Given the description of an element on the screen output the (x, y) to click on. 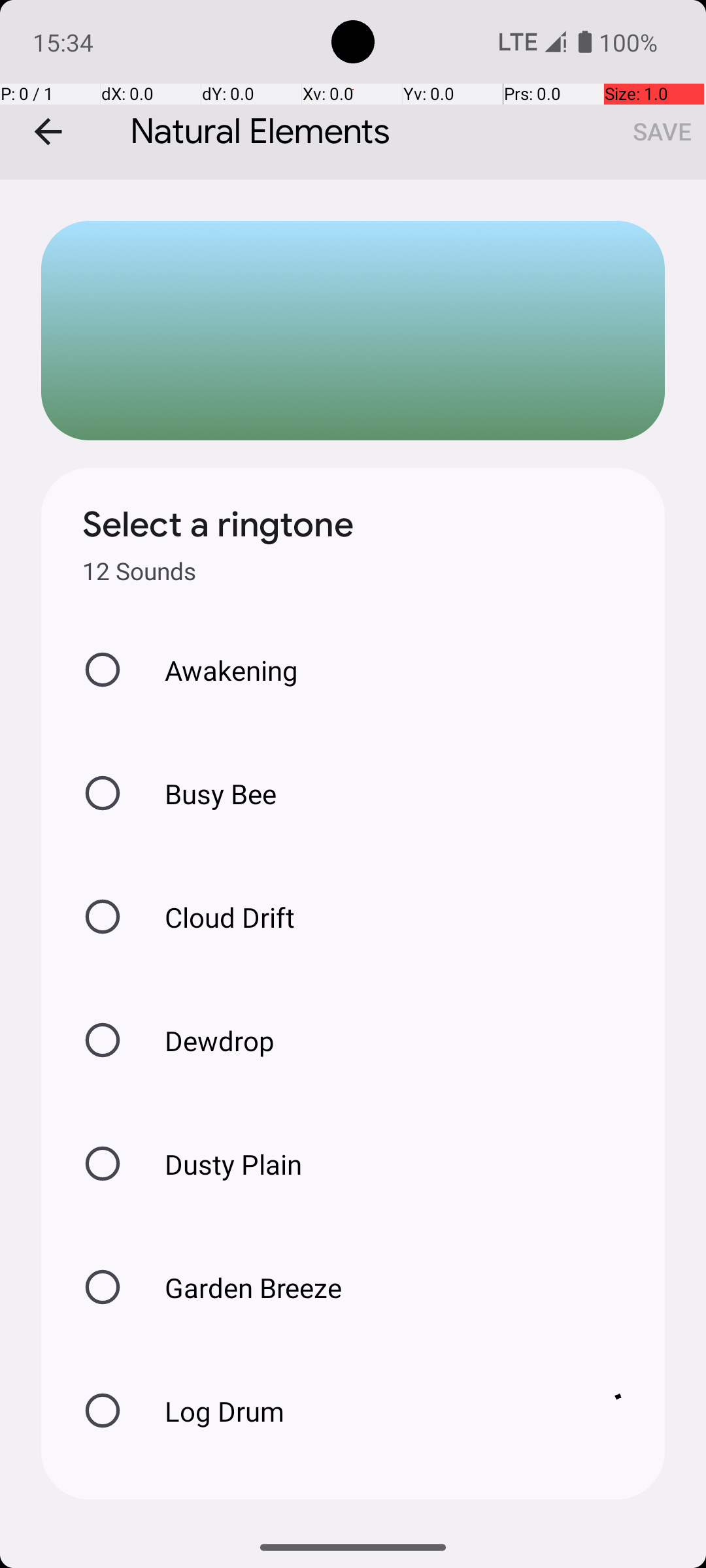
Natural Elements Element type: android.widget.FrameLayout (353, 89)
Select a ringtone Element type: android.widget.TextView (217, 524)
12 Sounds Element type: android.widget.TextView (139, 570)
Awakening Element type: android.widget.TextView (217, 669)
Busy Bee Element type: android.widget.TextView (206, 793)
Cloud Drift Element type: android.widget.TextView (215, 916)
Dewdrop Element type: android.widget.TextView (205, 1040)
Dusty Plain Element type: android.widget.TextView (219, 1163)
Garden Breeze Element type: android.widget.TextView (239, 1287)
Log Drum Element type: android.widget.TextView (359, 1410)
Download in progress Element type: android.widget.ImageView (623, 1410)
